Given the description of an element on the screen output the (x, y) to click on. 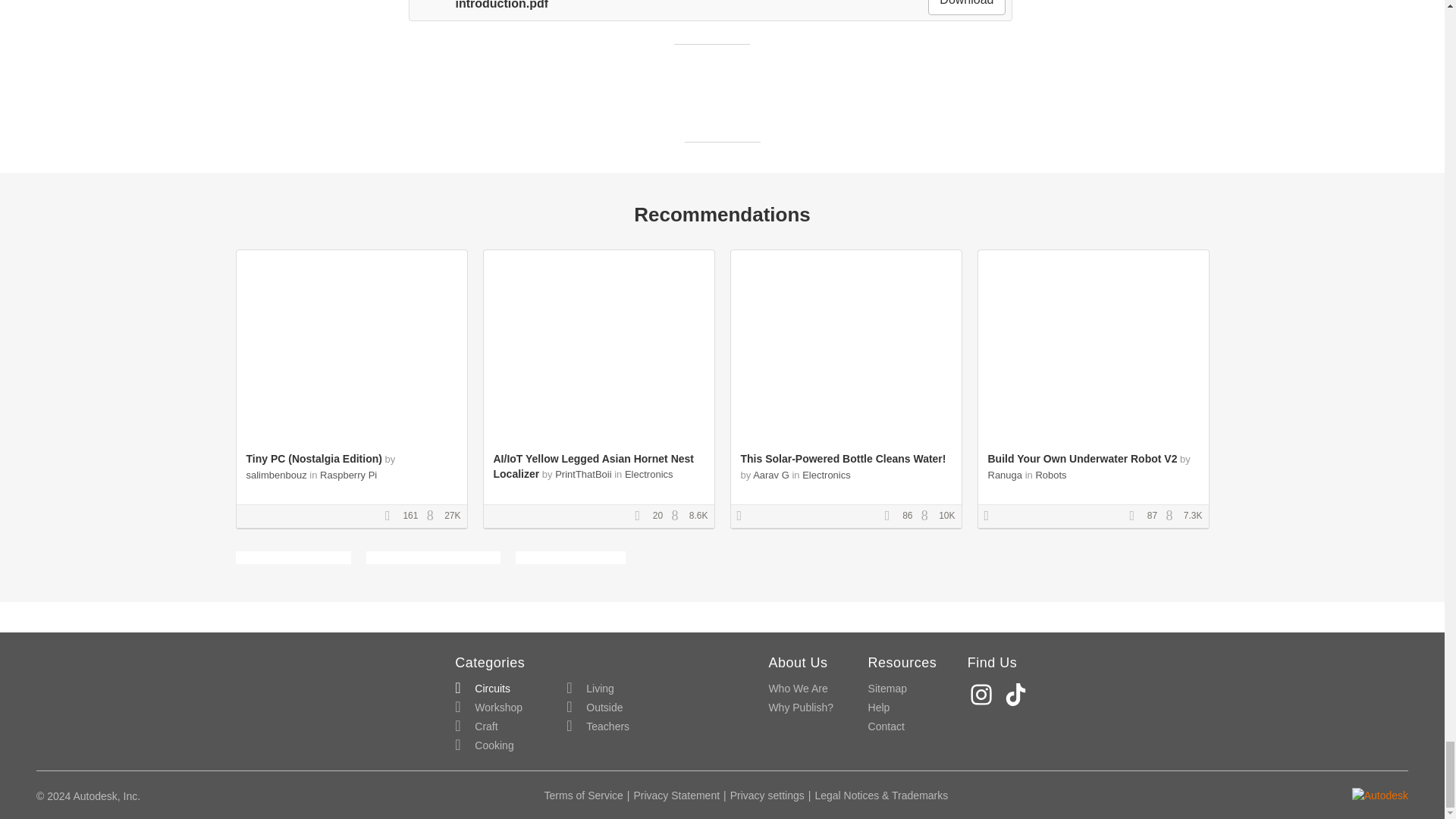
introduction.pdf (480, 4)
Views Count (434, 516)
Favorites Count (1136, 516)
Instagram (983, 694)
Views Count (1173, 516)
Views Count (928, 516)
Favorites Count (392, 516)
Favorites Count (892, 516)
Favorites Count (641, 516)
Contest Winner (744, 516)
